Given the description of an element on the screen output the (x, y) to click on. 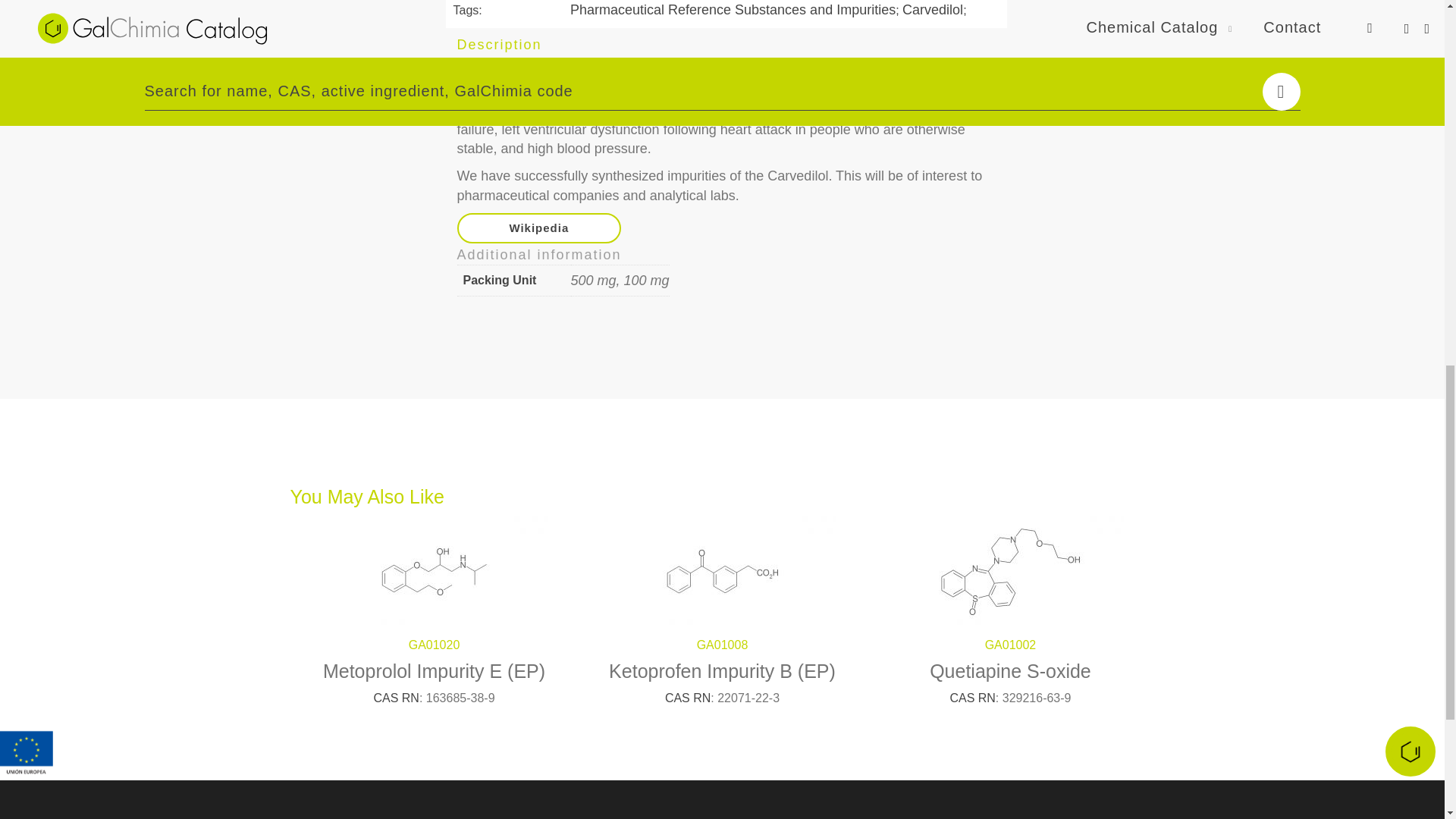
Carvedilol (932, 10)
Wikipedia (539, 227)
Pharmaceutical Reference Substances and Impurities (732, 10)
